Given the description of an element on the screen output the (x, y) to click on. 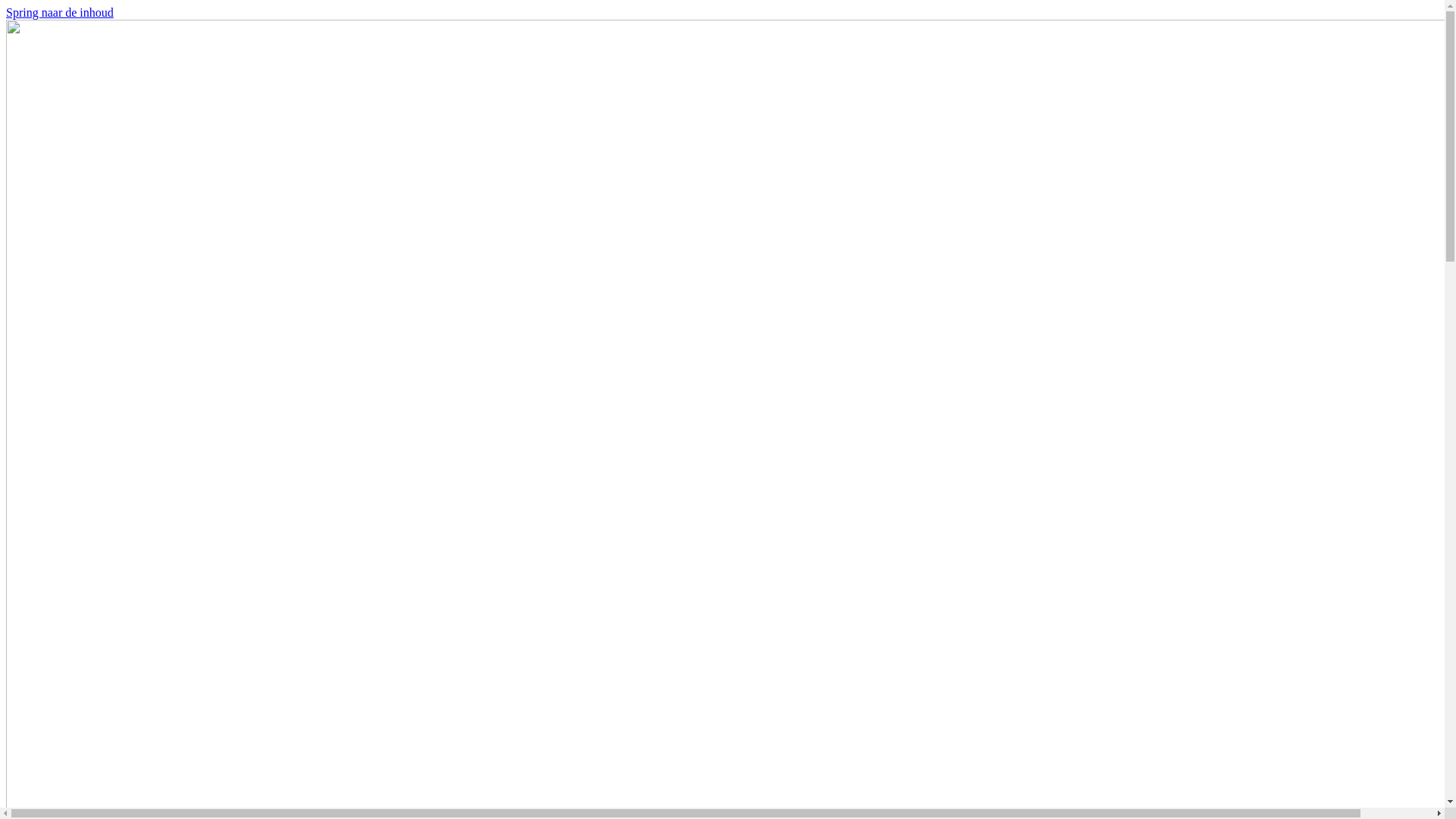
Spring naar de inhoud Element type: text (59, 12)
